Given the description of an element on the screen output the (x, y) to click on. 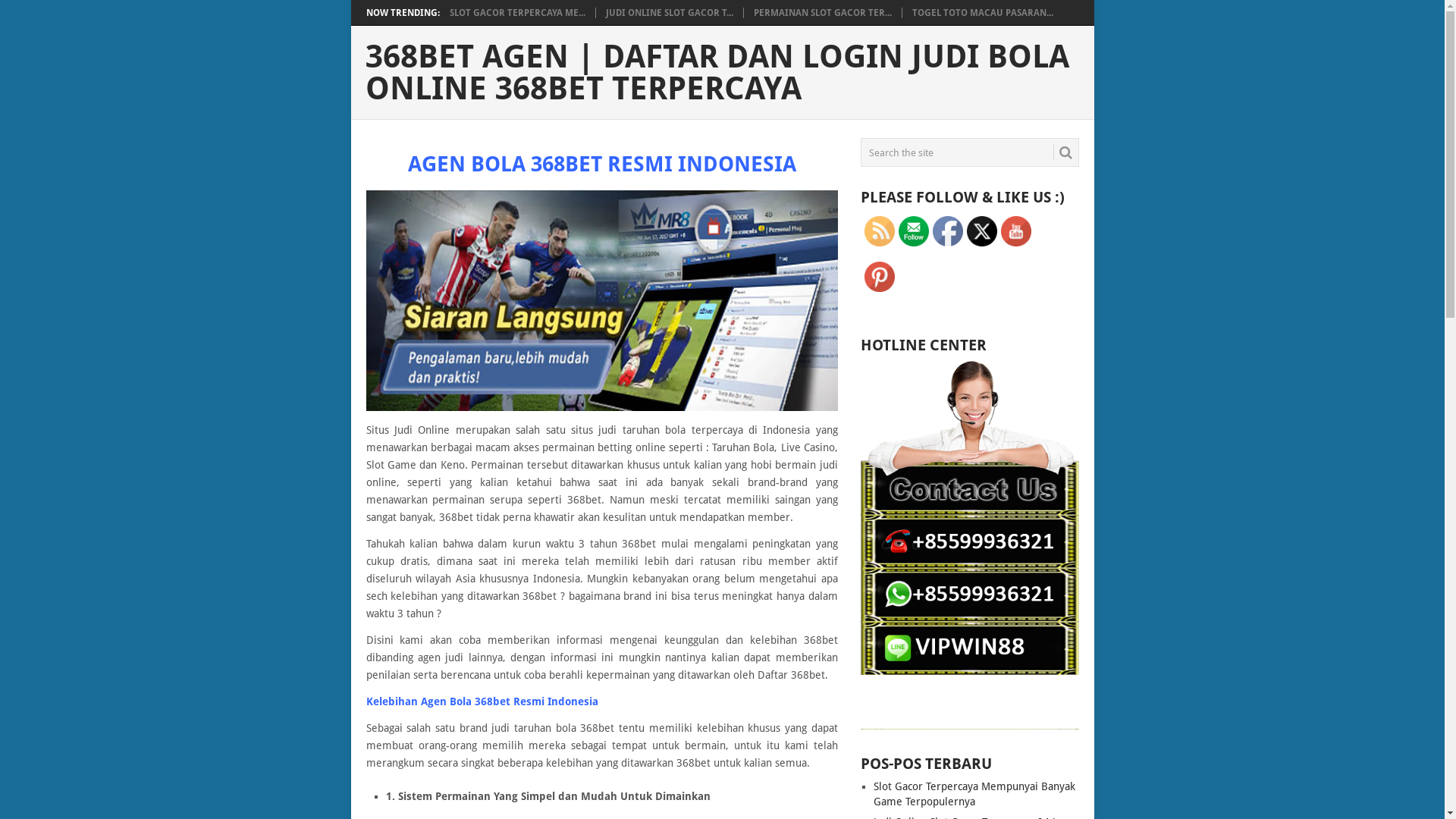
PERMAINAN SLOT GACOR TER... Element type: text (822, 12)
SLOT GACOR TERPERCAYA ME... Element type: text (516, 12)
YouTube Element type: hover (1016, 231)
JUDI ONLINE SLOT GACOR T... Element type: text (668, 12)
Twitter Element type: hover (981, 231)
RSS Element type: hover (879, 231)
Facebook Element type: hover (947, 231)
Slot Gacor Terpercaya Mempunyai Banyak Game Terpopulernya Element type: text (974, 793)
Follow by Email Element type: hover (913, 231)
TOGEL TOTO MACAU PASARAN... Element type: text (981, 12)
Pinterest Element type: hover (879, 276)
